Given the description of an element on the screen output the (x, y) to click on. 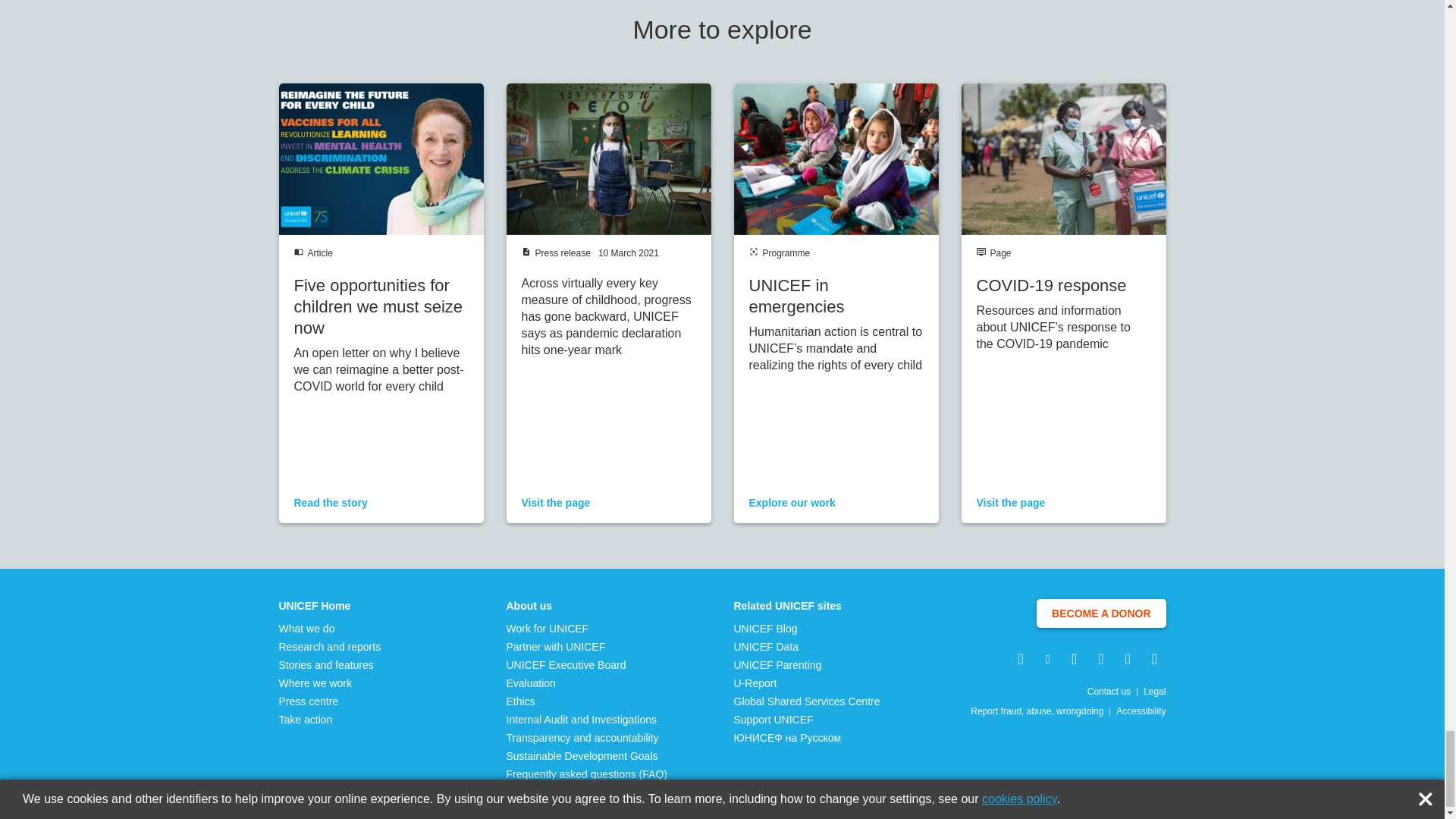
Five opportunities for children we must seize now (381, 303)
Take action (330, 719)
What we do (330, 628)
Press centre (330, 701)
Partner with UNICEF (586, 646)
Work for UNICEF (586, 628)
COVID-19 response (1063, 303)
UNICEF in emergencies (836, 303)
Stories and features (330, 664)
Where we work (330, 683)
UNICEF Home (330, 605)
Research and reports (330, 646)
About us (586, 605)
